Given the description of an element on the screen output the (x, y) to click on. 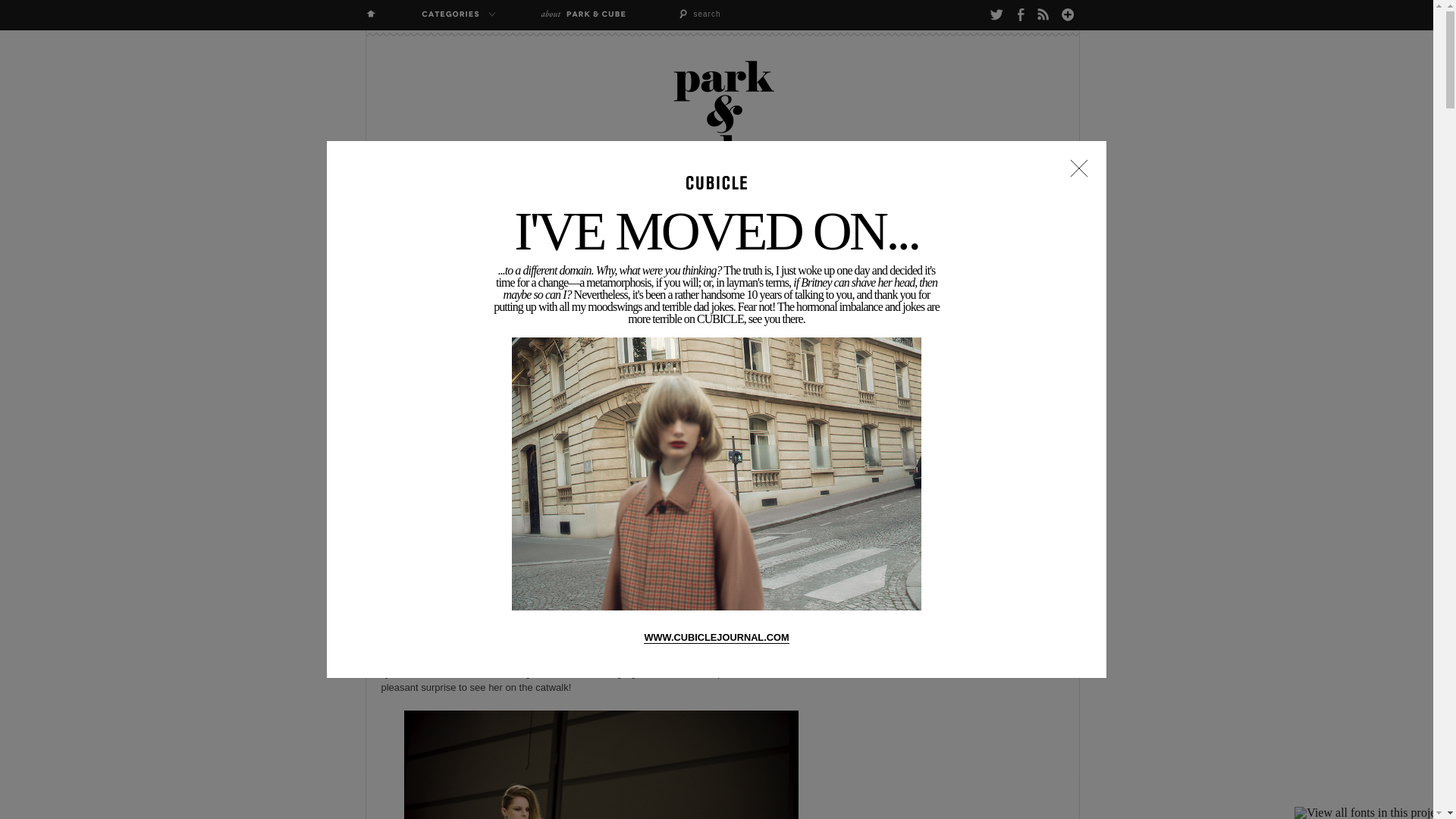
WWW.CUBICLEJOURNAL.COM (716, 637)
search (733, 13)
